Given the description of an element on the screen output the (x, y) to click on. 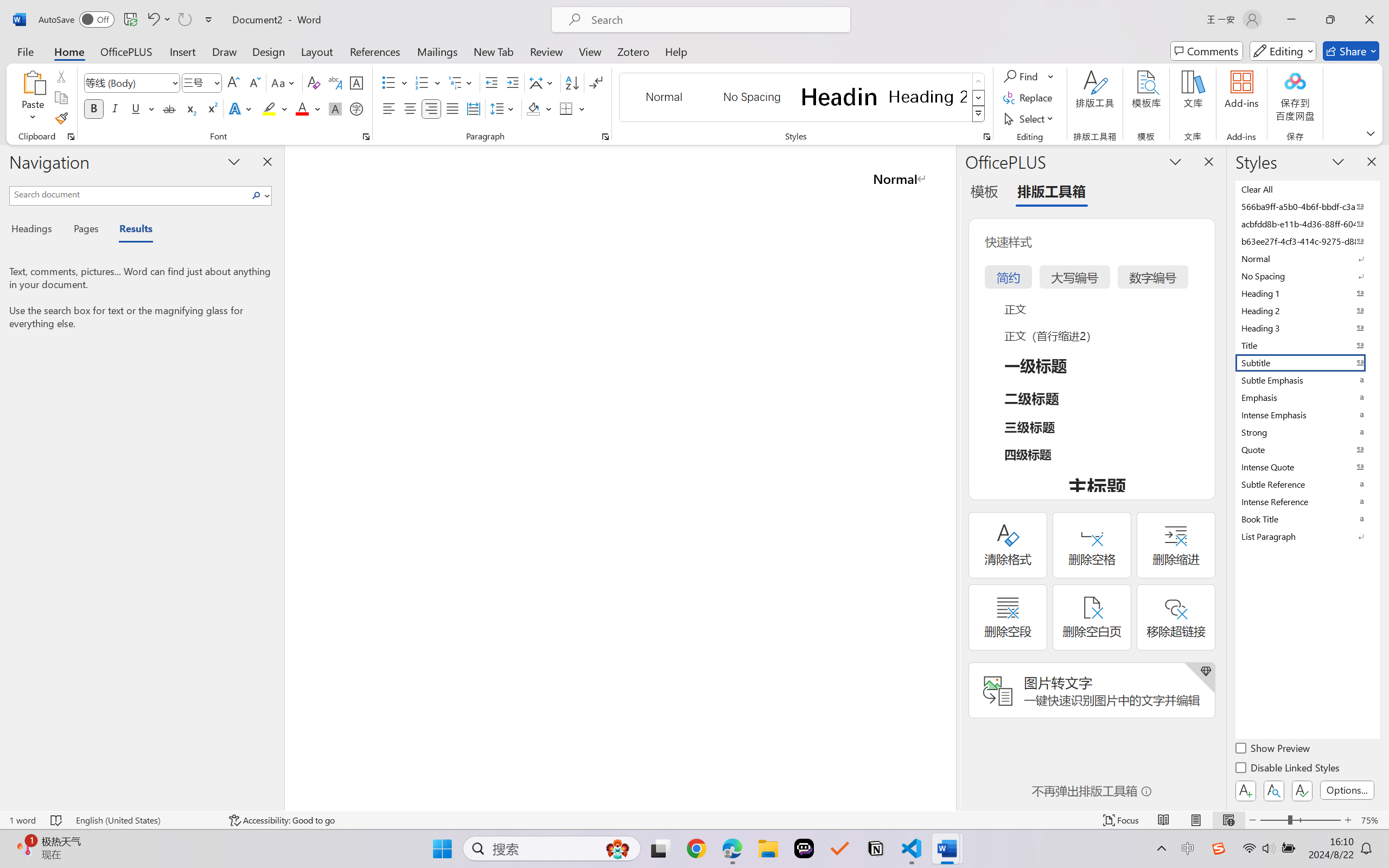
Open (215, 82)
Customize Quick Access Toolbar (208, 19)
Superscript (210, 108)
OfficePLUS (126, 51)
Microsoft search (715, 19)
Row up (978, 81)
Draw (224, 51)
Subtitle (1306, 362)
